Given the description of an element on the screen output the (x, y) to click on. 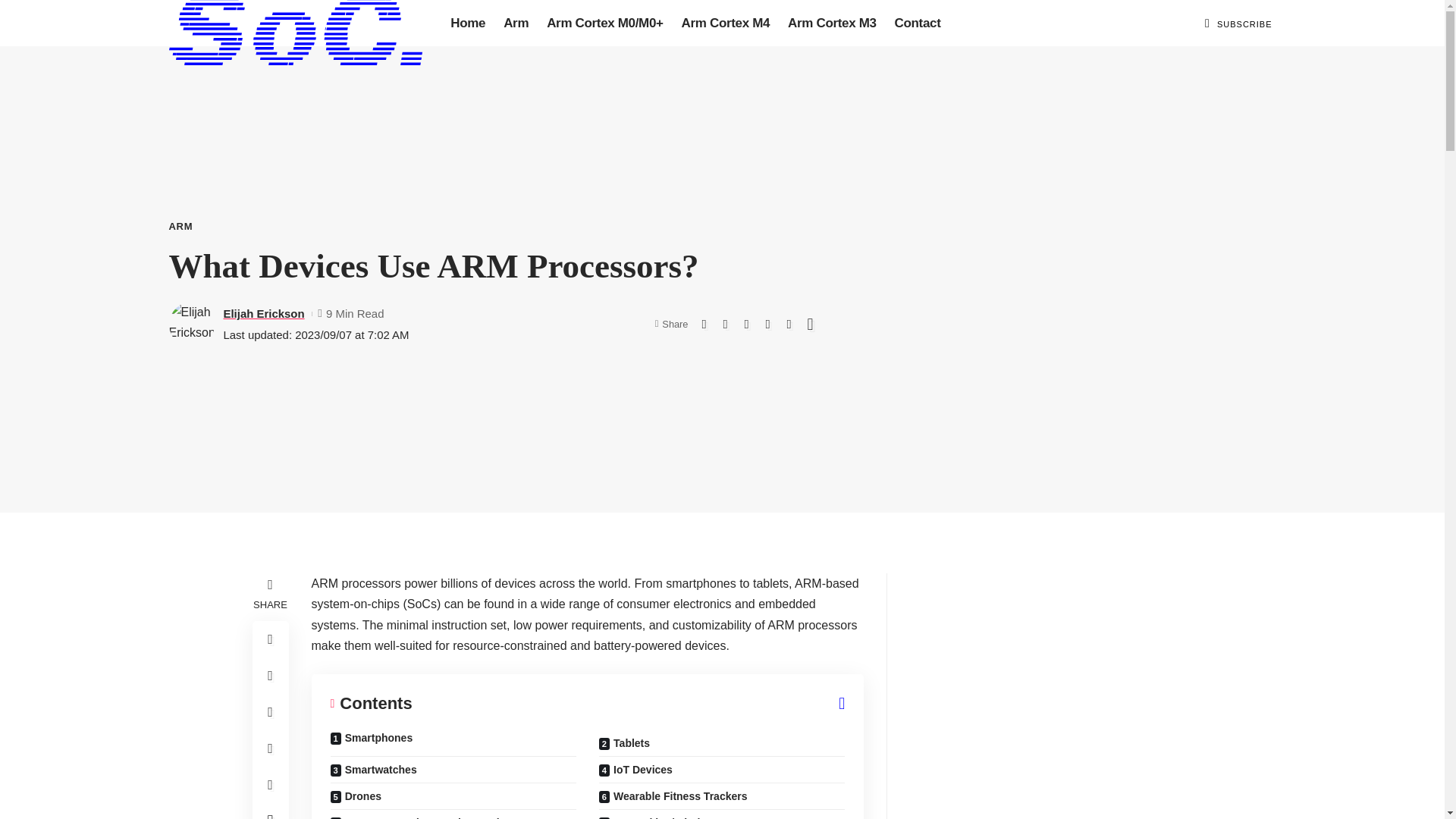
Arm (516, 22)
Arm Cortex M4 (725, 22)
Home (468, 22)
Arm Cortex M3 (831, 22)
Contact (917, 22)
SUBSCRIBE (1244, 23)
